Given the description of an element on the screen output the (x, y) to click on. 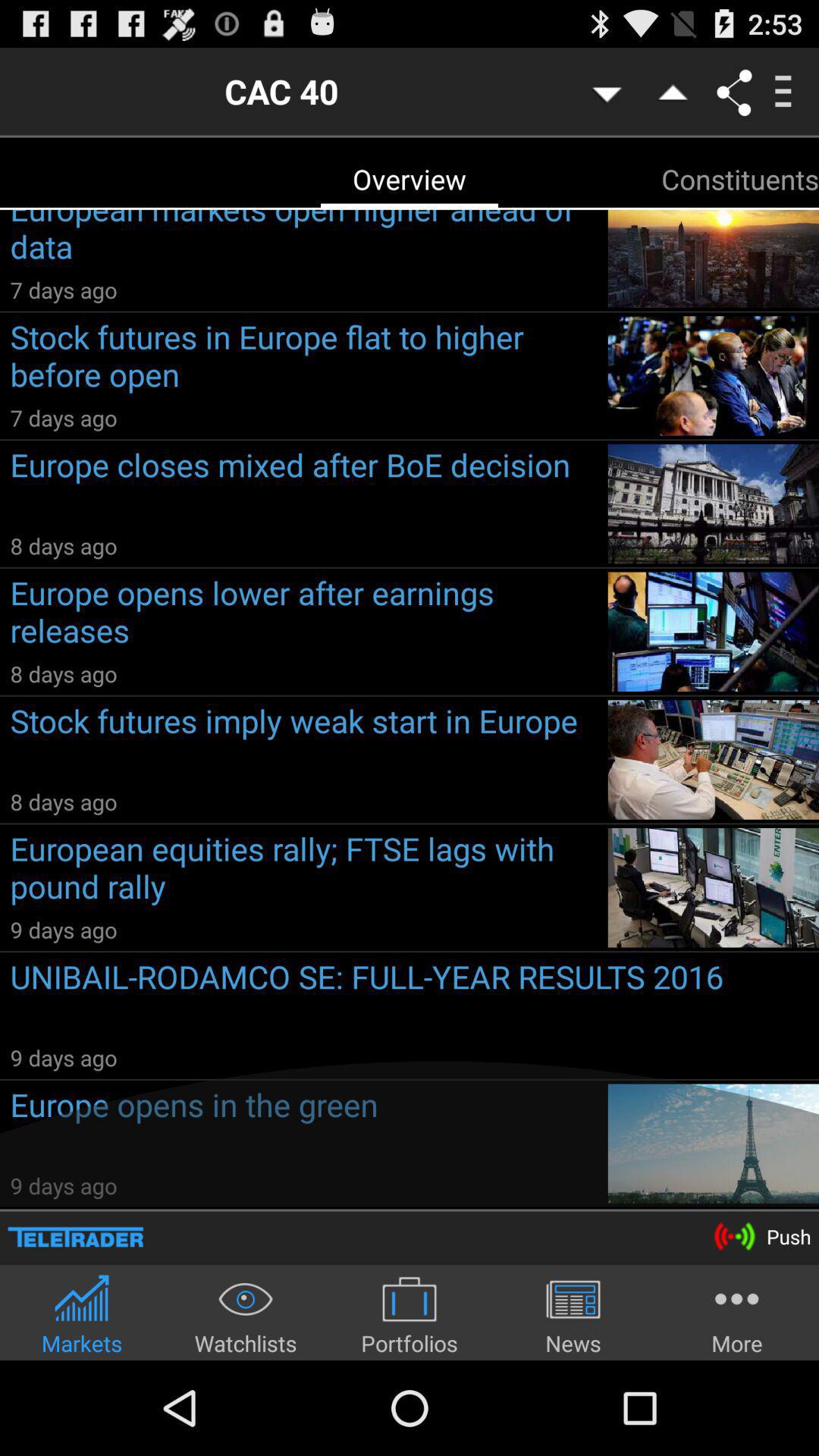
turn off the item above the 9 days ago item (303, 870)
